Given the description of an element on the screen output the (x, y) to click on. 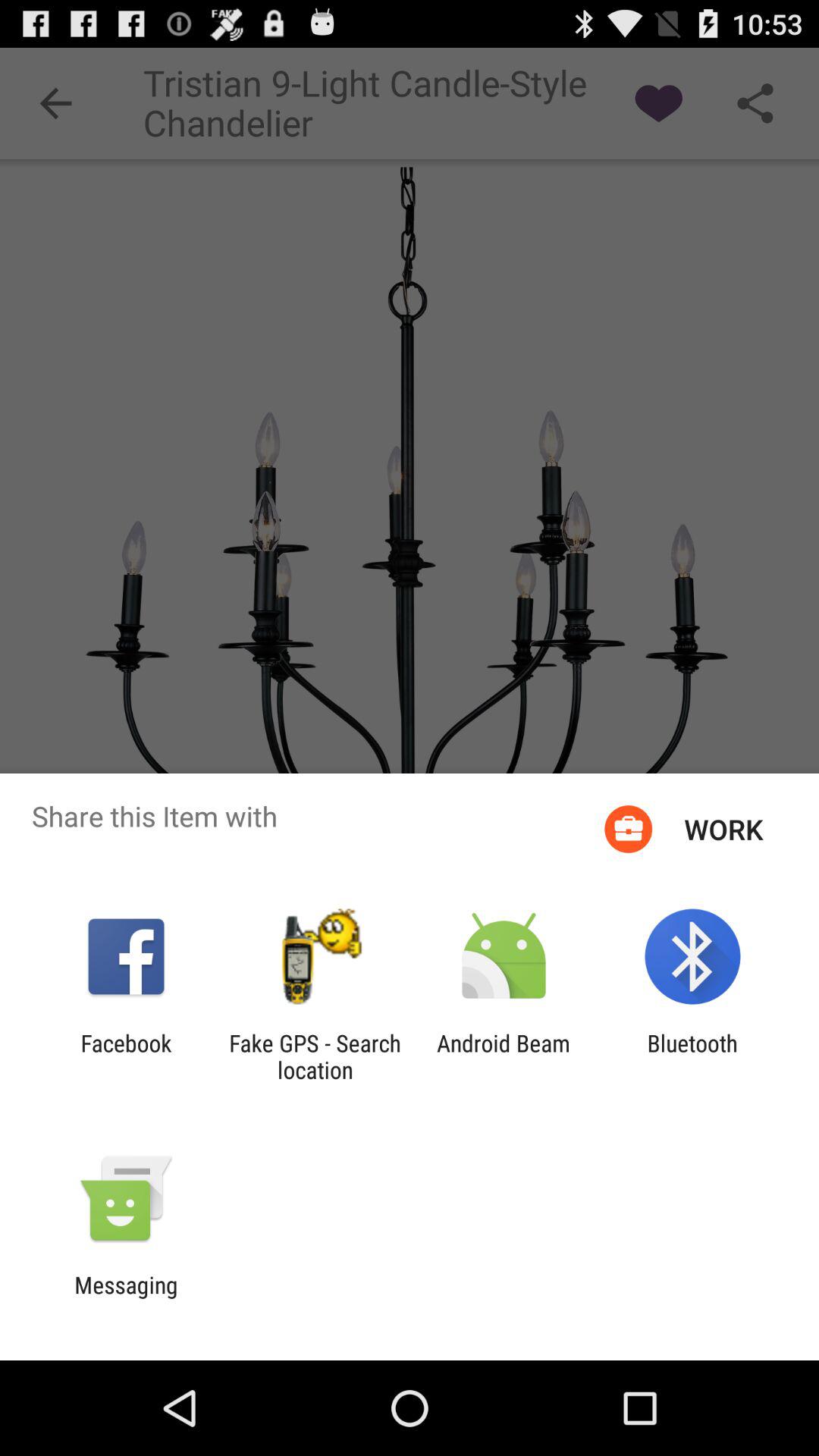
turn off the item to the left of the bluetooth app (503, 1056)
